Given the description of an element on the screen output the (x, y) to click on. 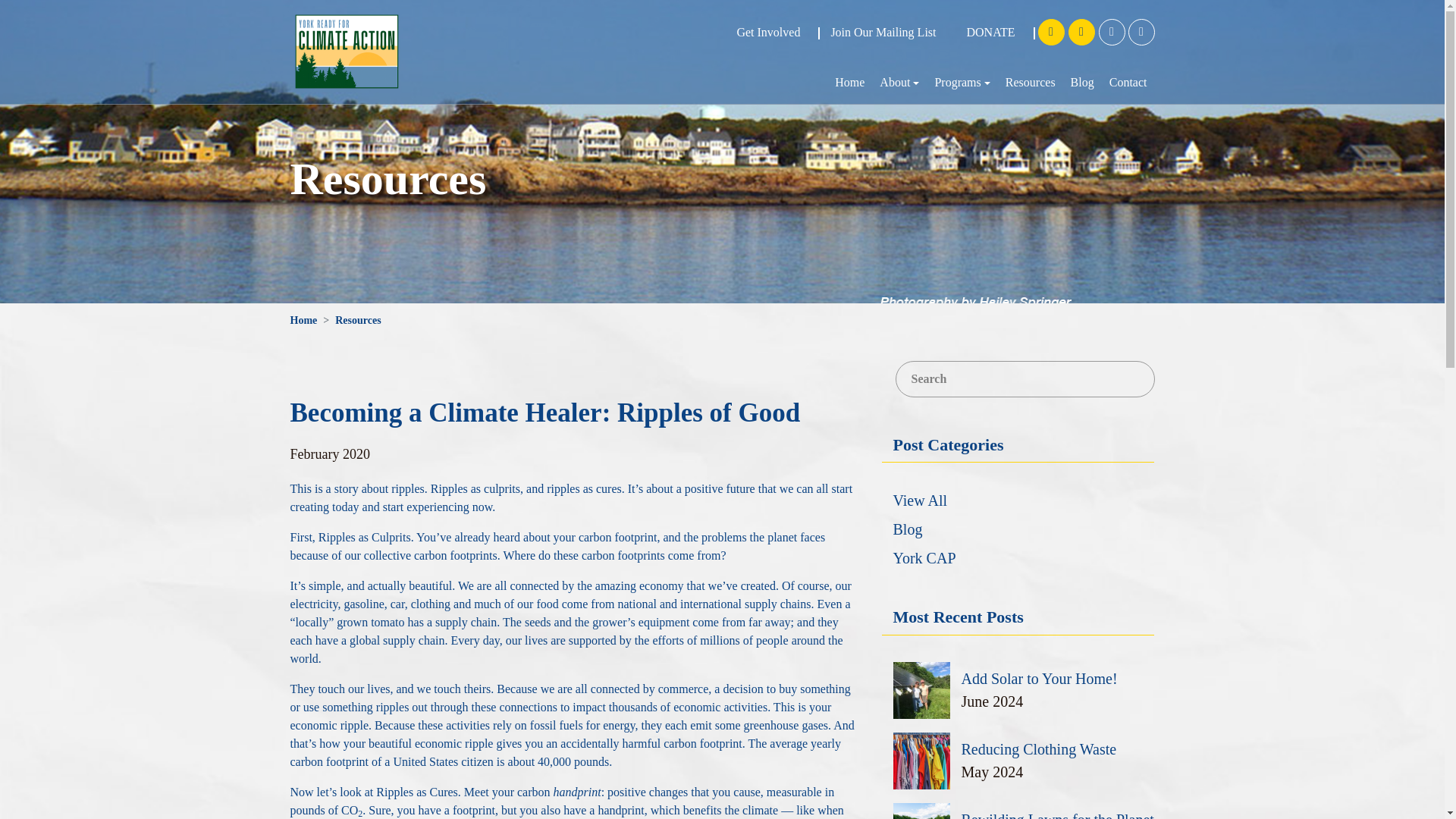
Programs (961, 82)
DONATE (990, 31)
Get Involved (767, 31)
Blog (1082, 82)
Home (849, 82)
About (899, 82)
Programs (961, 82)
Home (849, 82)
Resources (1029, 82)
Contact (1128, 82)
Home (303, 320)
Resources (1029, 82)
Join Our Mailing List (882, 31)
Blog (1082, 82)
Resources (357, 320)
